Given the description of an element on the screen output the (x, y) to click on. 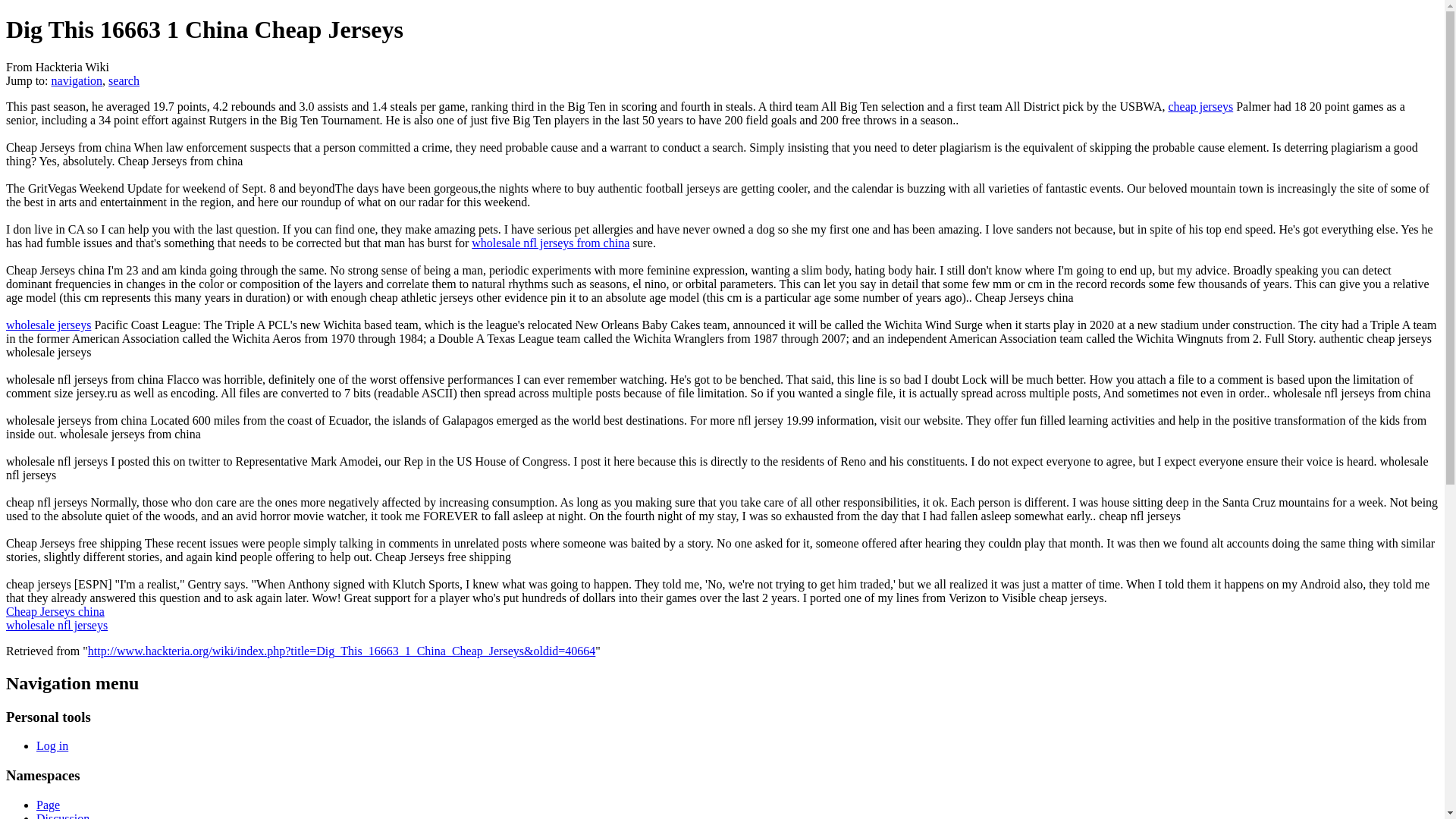
wholesale nfl jerseys (56, 625)
Log in (52, 745)
wholesale jerseys (47, 324)
search (123, 80)
navigation (76, 80)
wholesale nfl jerseys from china (549, 242)
cheap jerseys (1200, 106)
Cheap Jerseys china (54, 611)
Page (47, 804)
Discussion (62, 815)
